Given the description of an element on the screen output the (x, y) to click on. 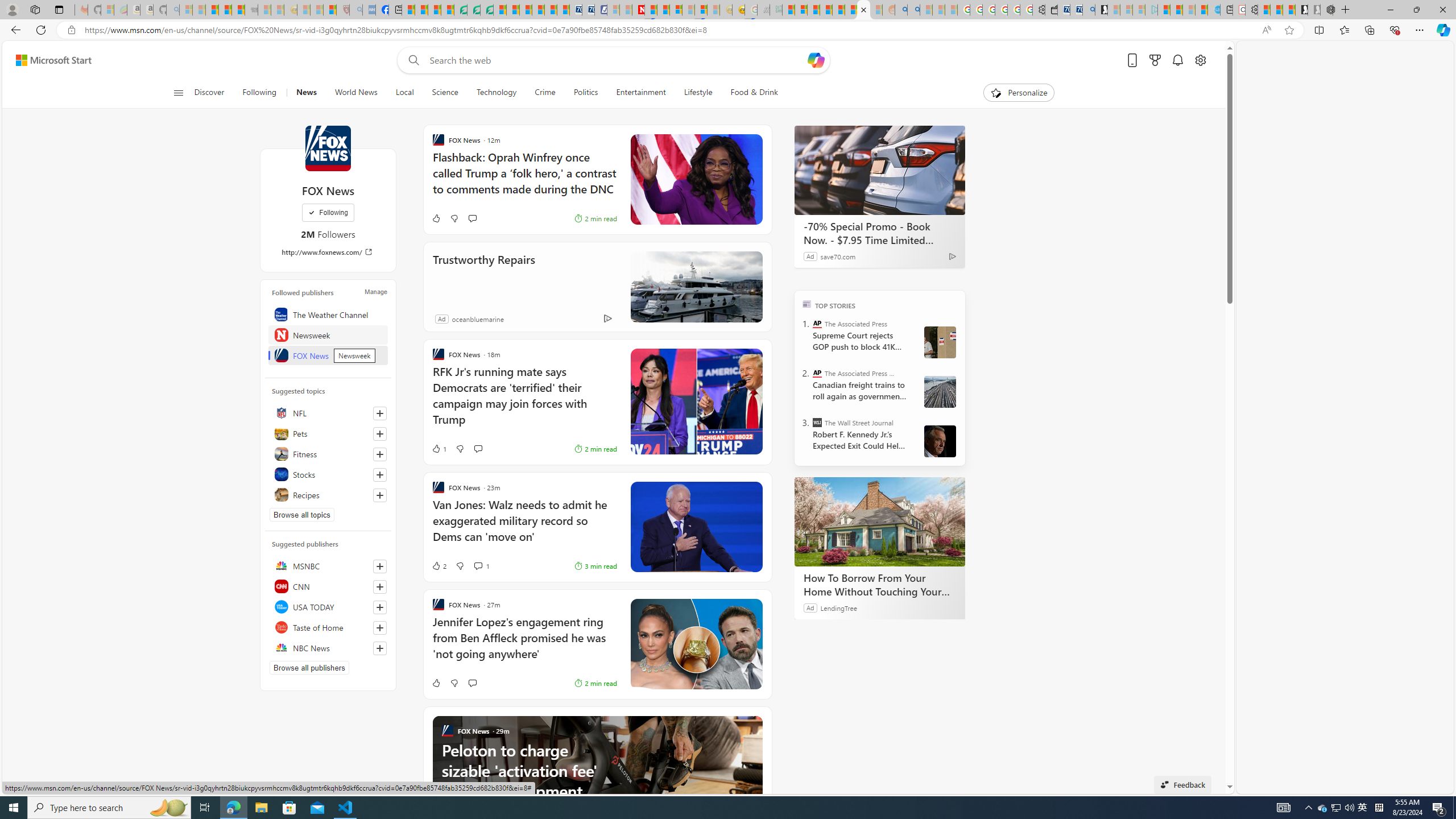
oceanbluemarine (477, 318)
Browse all topics (301, 514)
FOX News (327, 148)
